Given the description of an element on the screen output the (x, y) to click on. 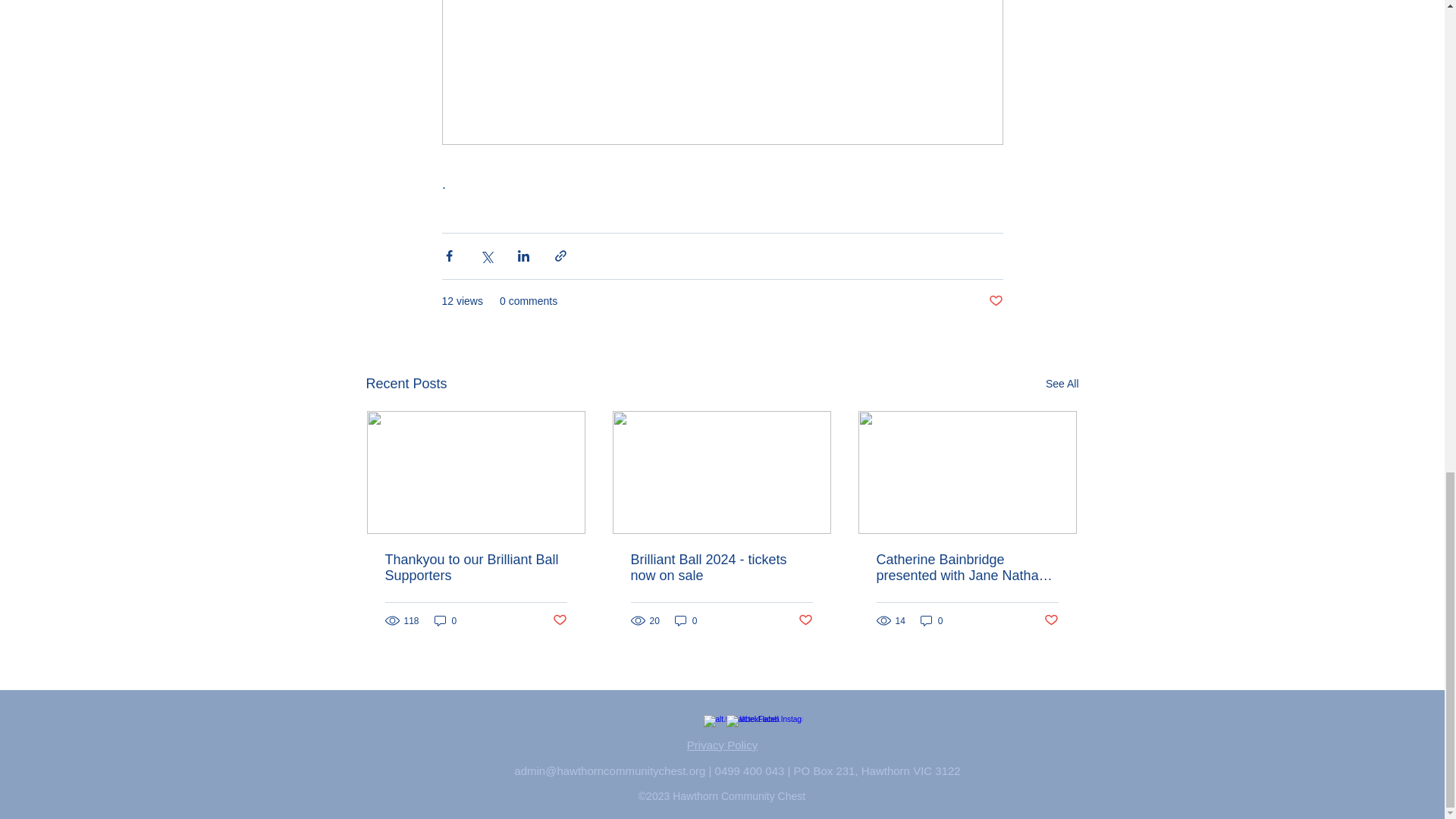
Thankyou to our Brilliant Ball Supporters (476, 567)
See All (1061, 383)
Post not marked as liked (995, 301)
0 (445, 620)
Post not marked as liked (804, 620)
Post not marked as liked (558, 620)
Brilliant Ball 2024 - tickets now on sale (721, 567)
0 (685, 620)
